Given the description of an element on the screen output the (x, y) to click on. 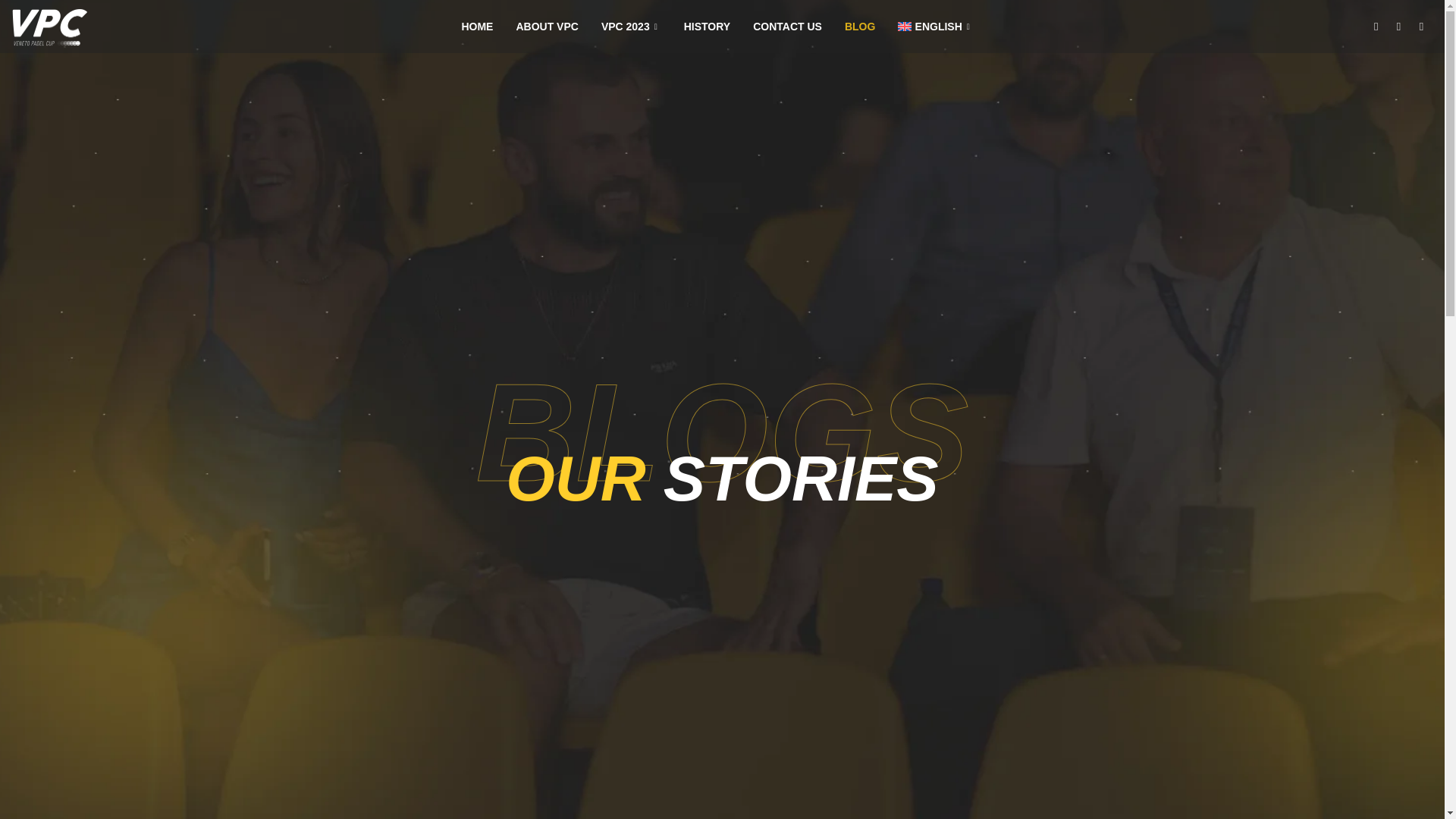
CONTACT US (786, 26)
HOME (476, 26)
ENGLISH (935, 26)
English (935, 26)
BLOG (859, 26)
ABOUT VPC (546, 26)
HISTORY (706, 26)
VPC 2023 (630, 26)
